Given the description of an element on the screen output the (x, y) to click on. 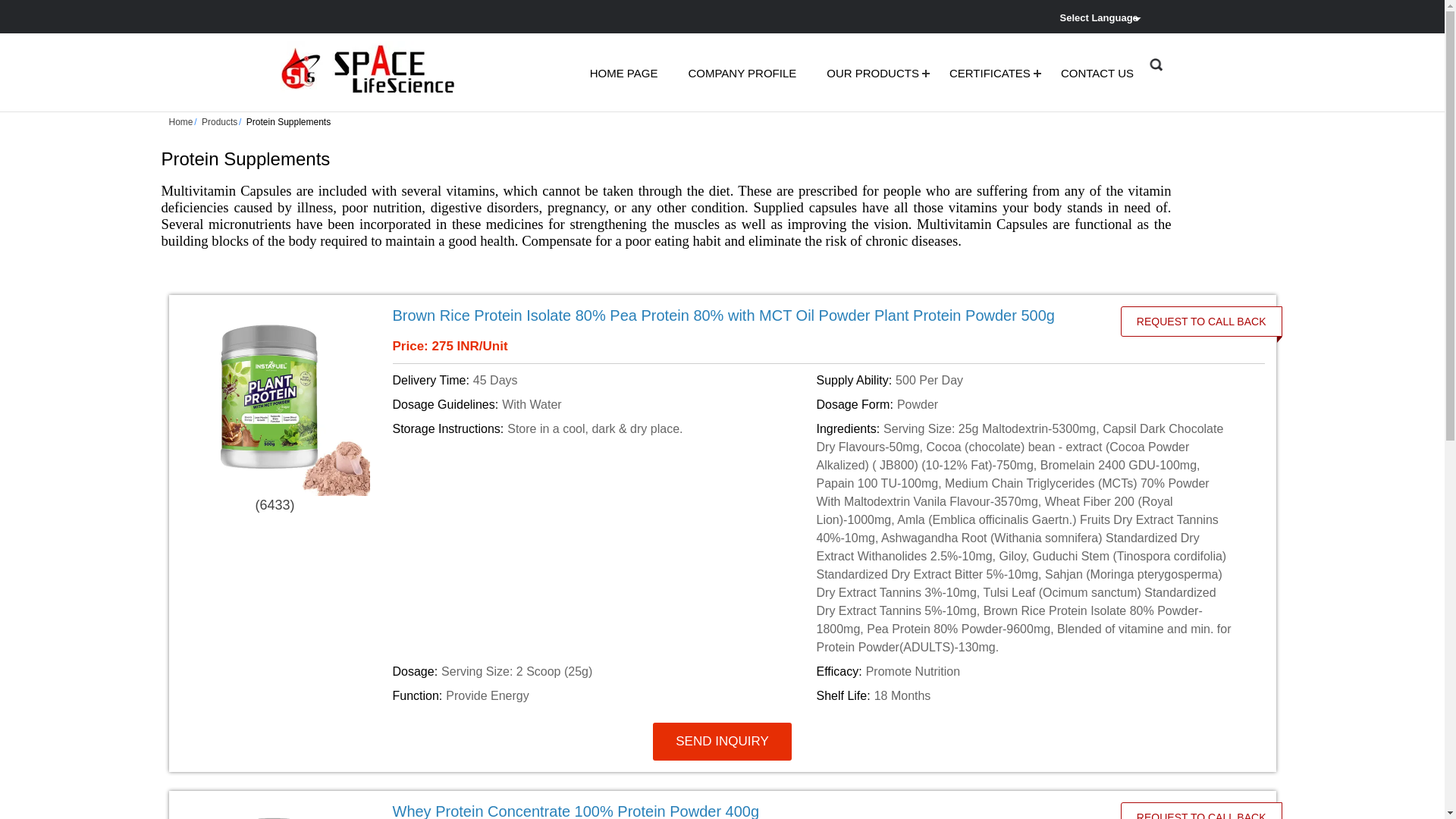
Efficacy: Promote Nutrition (1024, 671)
Select Language (1102, 17)
Dosage Guidelines: With Water (601, 404)
Dosage Form: Powder (1024, 404)
Space Lifesciences (371, 70)
HOME PAGE (623, 73)
Delivery Time: 45 Days (601, 380)
Function: Provide Energy (601, 696)
Shelf Life: 18 Months  (1024, 696)
COMPANY PROFILE (741, 73)
Supply Ability: 500 Per Day (1024, 380)
OUR PRODUCTS (872, 73)
